Given the description of an element on the screen output the (x, y) to click on. 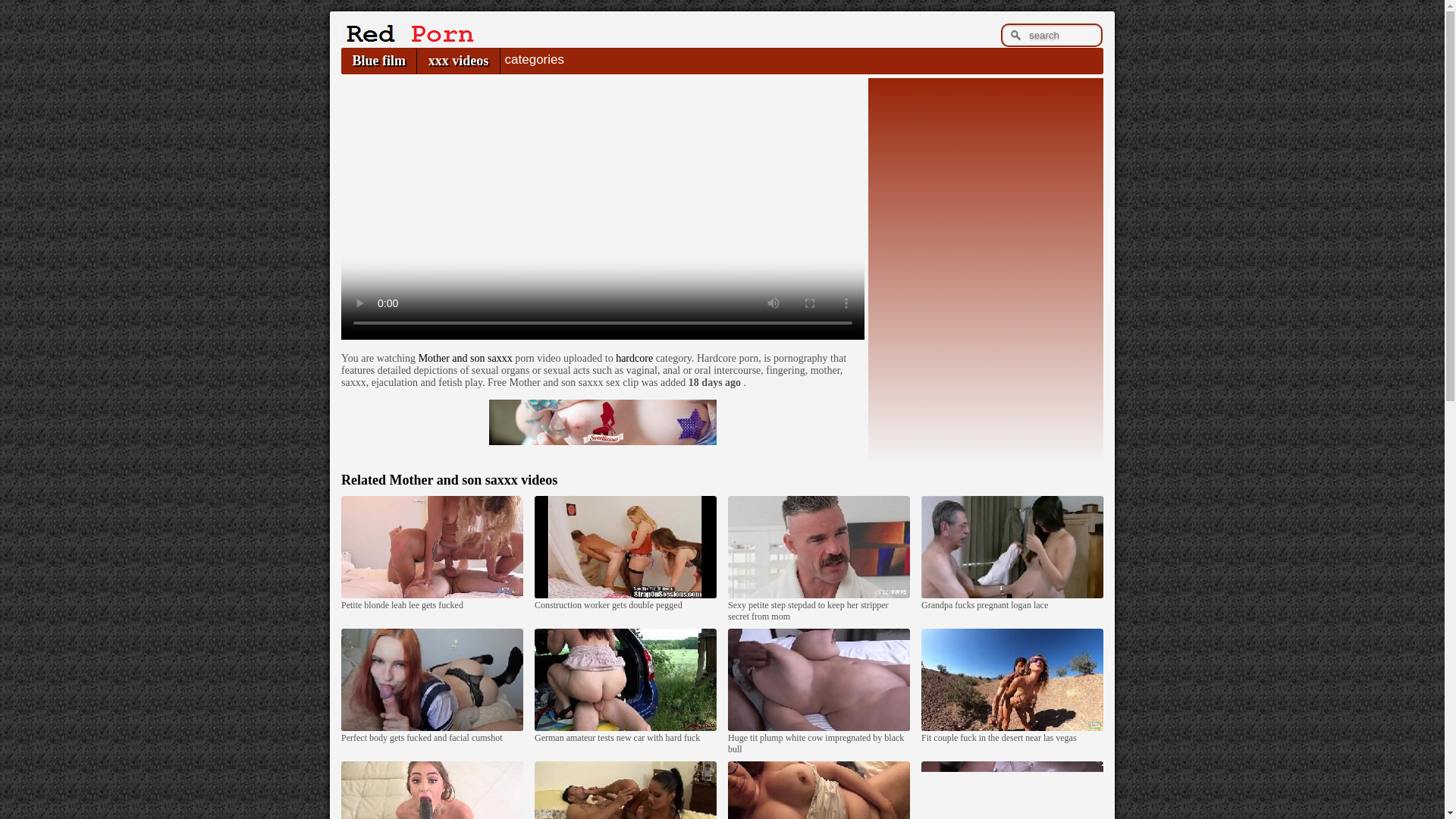
categories (533, 59)
Mother and son saxxx videos (472, 479)
Indian Porn (407, 39)
hardcore (633, 357)
tiktok porn (602, 422)
hardcore (633, 357)
Mother and son saxxx (472, 479)
Mother and son saxxx (465, 357)
Blue film (378, 60)
Mother and son saxxx (465, 357)
